Given the description of an element on the screen output the (x, y) to click on. 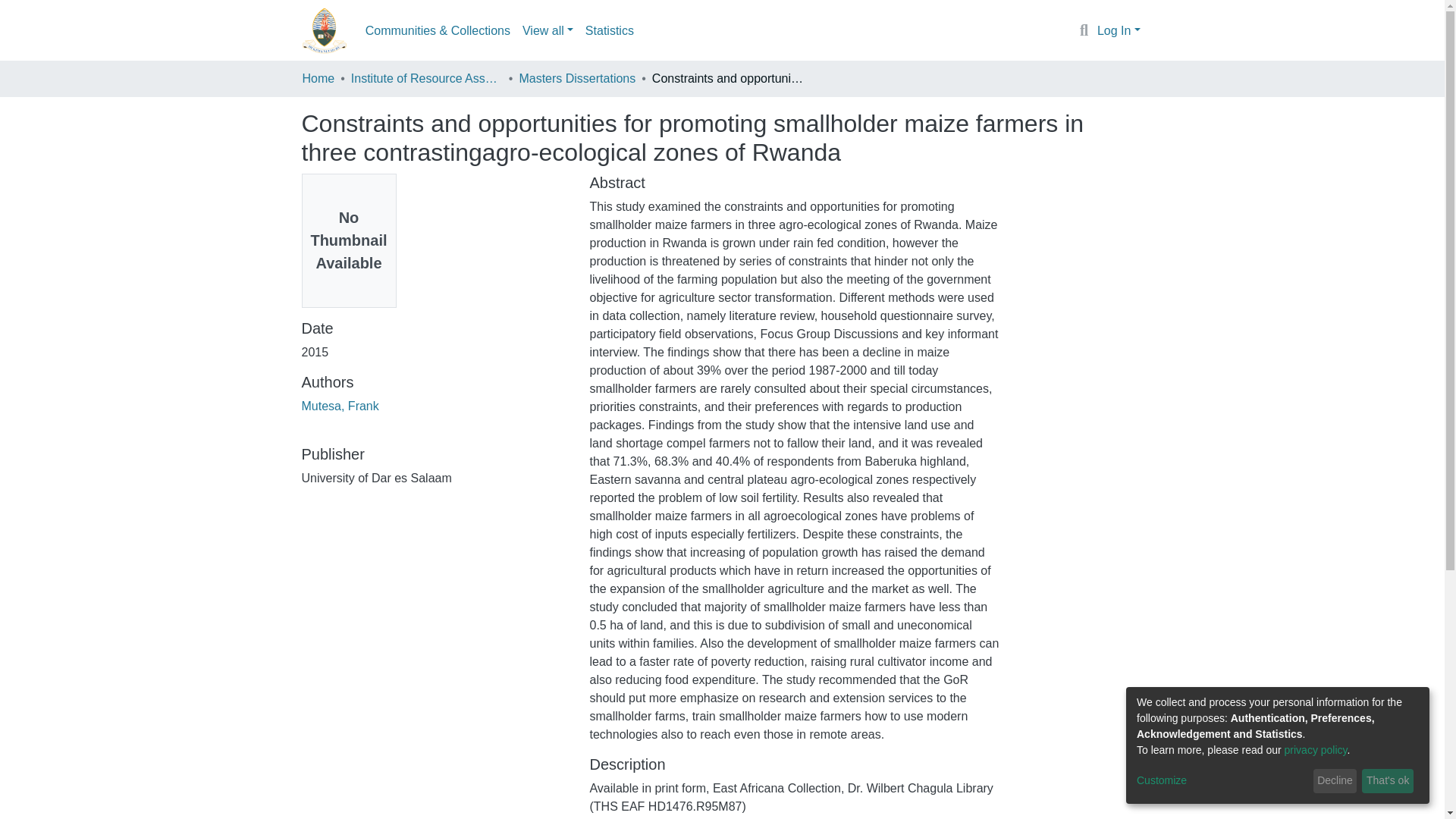
View all (547, 30)
That's ok (1387, 781)
Decline (1334, 781)
Masters Dissertations (576, 78)
Mutesa, Frank (339, 405)
Statistics (609, 30)
Customize (1222, 780)
Home (317, 78)
Statistics (609, 30)
Log In (1118, 30)
privacy policy (1316, 749)
Institute of Resource Assessment (426, 78)
Search (1084, 30)
